Given the description of an element on the screen output the (x, y) to click on. 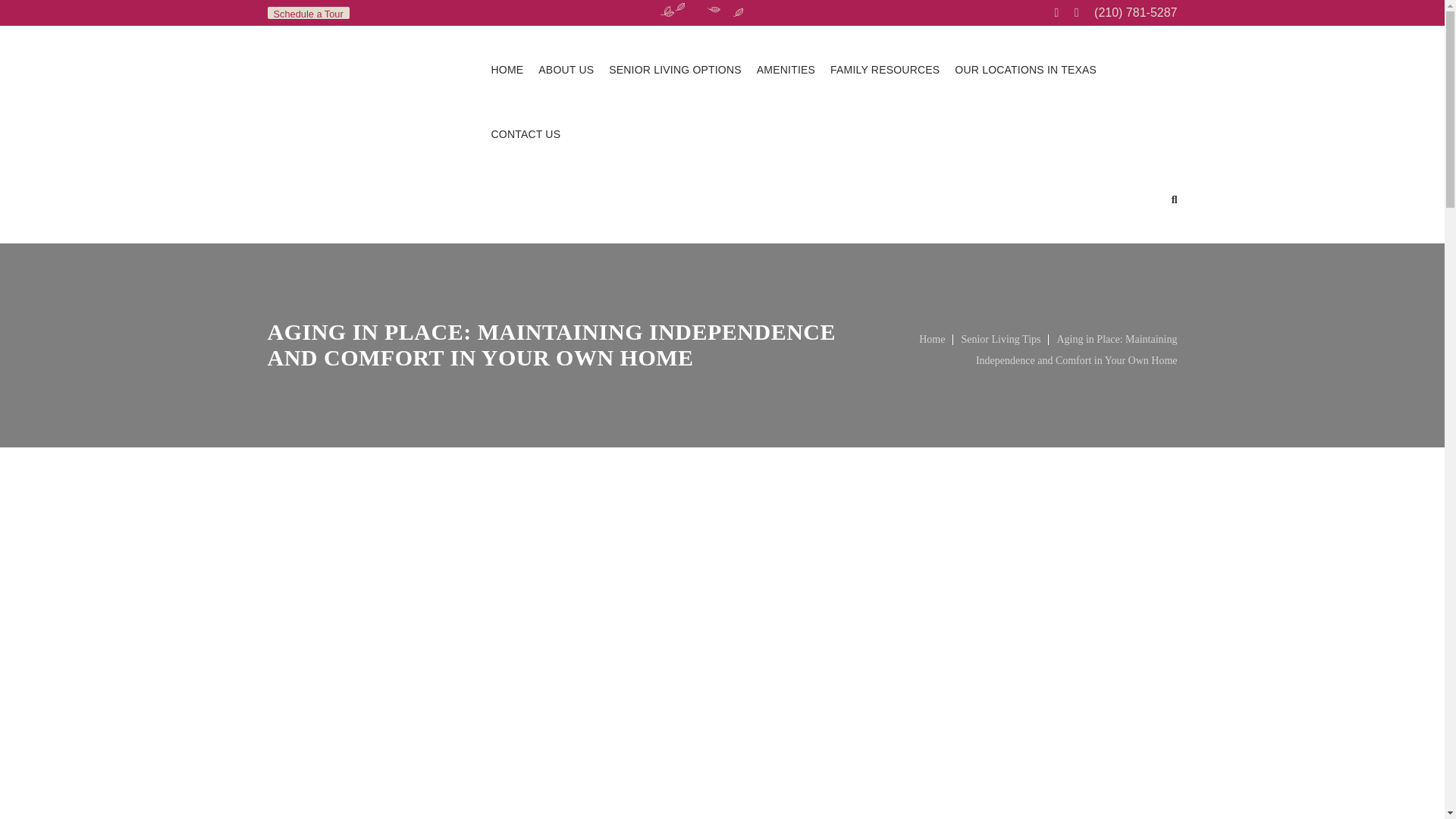
AMENITIES (785, 69)
OUR LOCATIONS IN TEXAS (1025, 69)
FAMILY RESOURCES (884, 69)
SENIOR LIVING OPTIONS (675, 69)
CONTACT US (526, 134)
ABOUT US (566, 69)
Serenity Oaks (366, 132)
Schedule a Tour (307, 12)
